Given the description of an element on the screen output the (x, y) to click on. 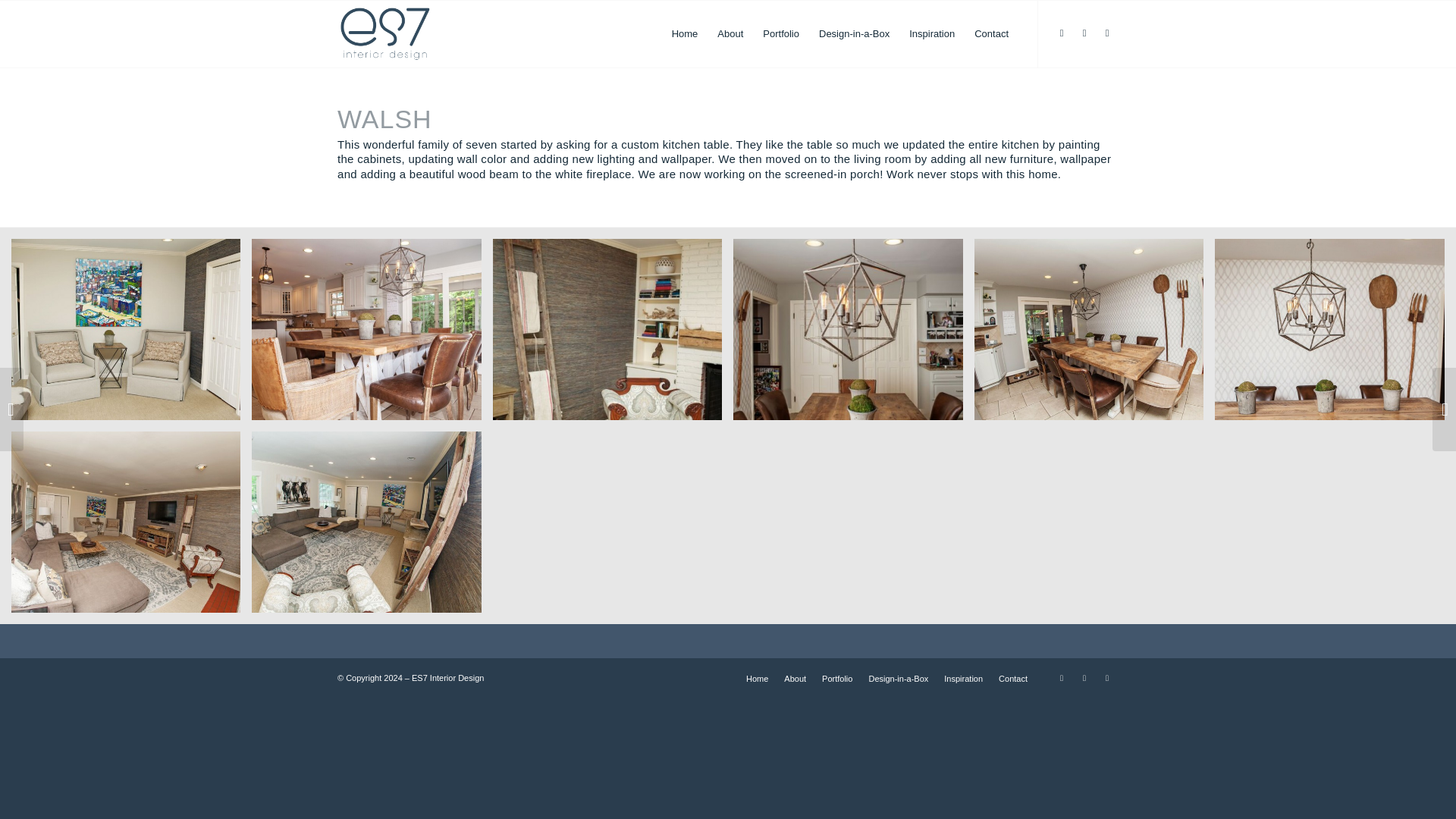
Facebook (1061, 33)
Portfolio (836, 678)
Instagram (1107, 677)
Pinterest (1084, 33)
About (795, 678)
Design-in-a-Box (854, 33)
Contact (1012, 678)
Inspiration (931, 33)
Pinterest (1084, 677)
Facebook (1061, 677)
Inspiration (962, 678)
Instagram (1107, 33)
Design-in-a-Box (897, 678)
Home (756, 678)
